Given the description of an element on the screen output the (x, y) to click on. 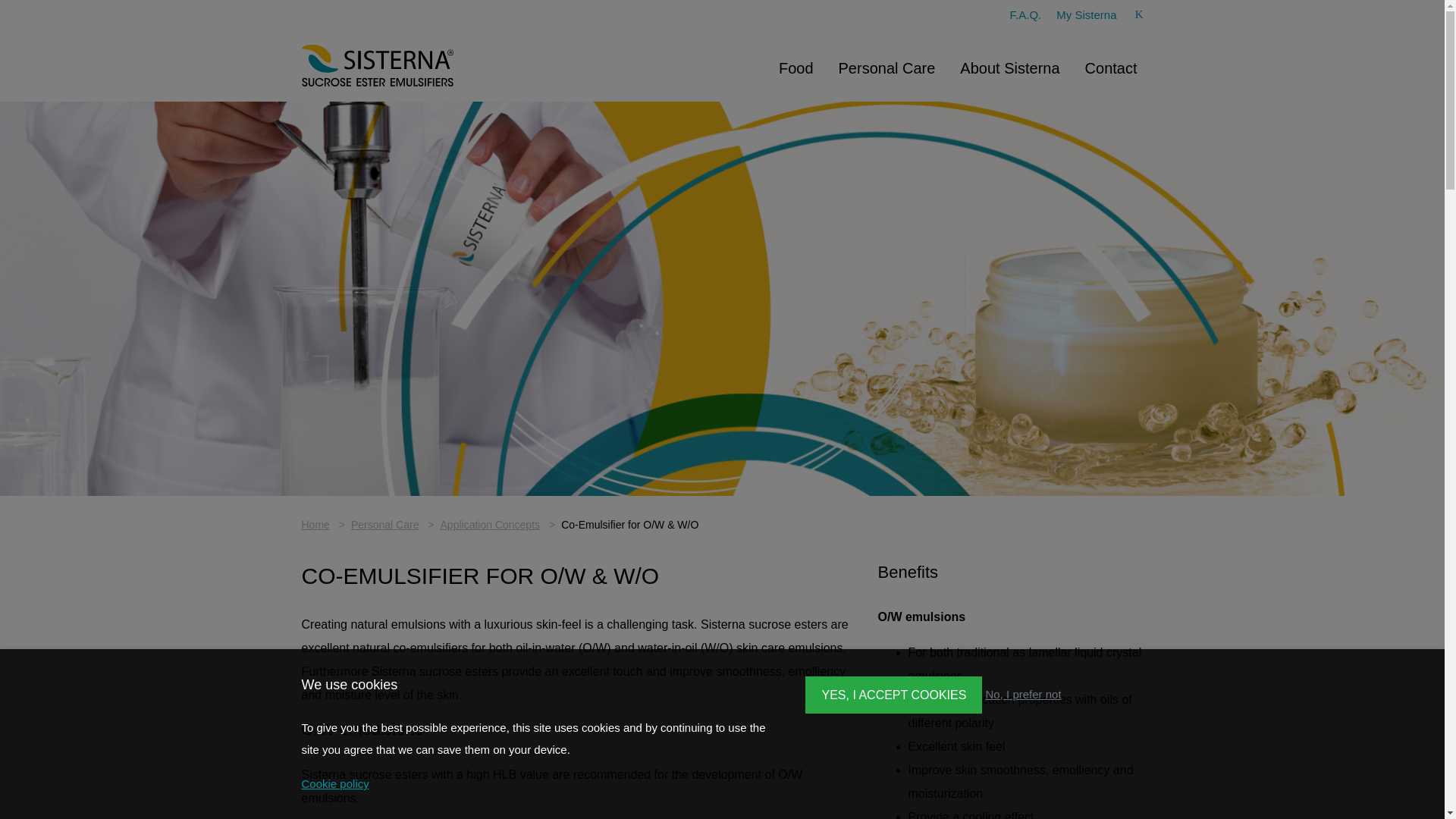
Food (796, 68)
My Sisterna (1086, 14)
F.A.Q. (1026, 14)
